Given the description of an element on the screen output the (x, y) to click on. 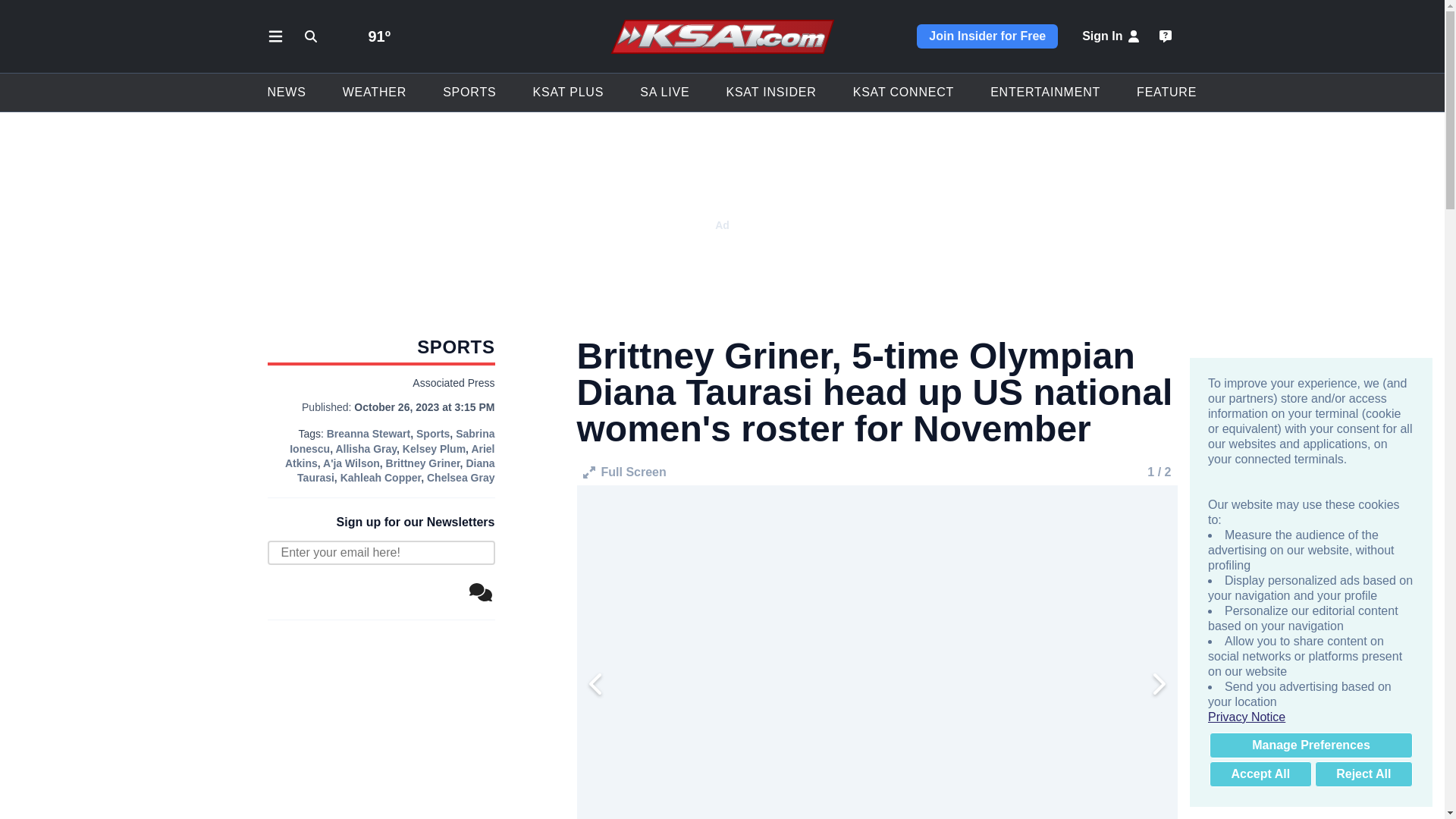
Accept All (1260, 774)
Sign In (1111, 36)
Reject All (1363, 774)
Manage Preferences (1310, 745)
Privacy Notice (1310, 717)
Join Insider for Free (987, 36)
